Given the description of an element on the screen output the (x, y) to click on. 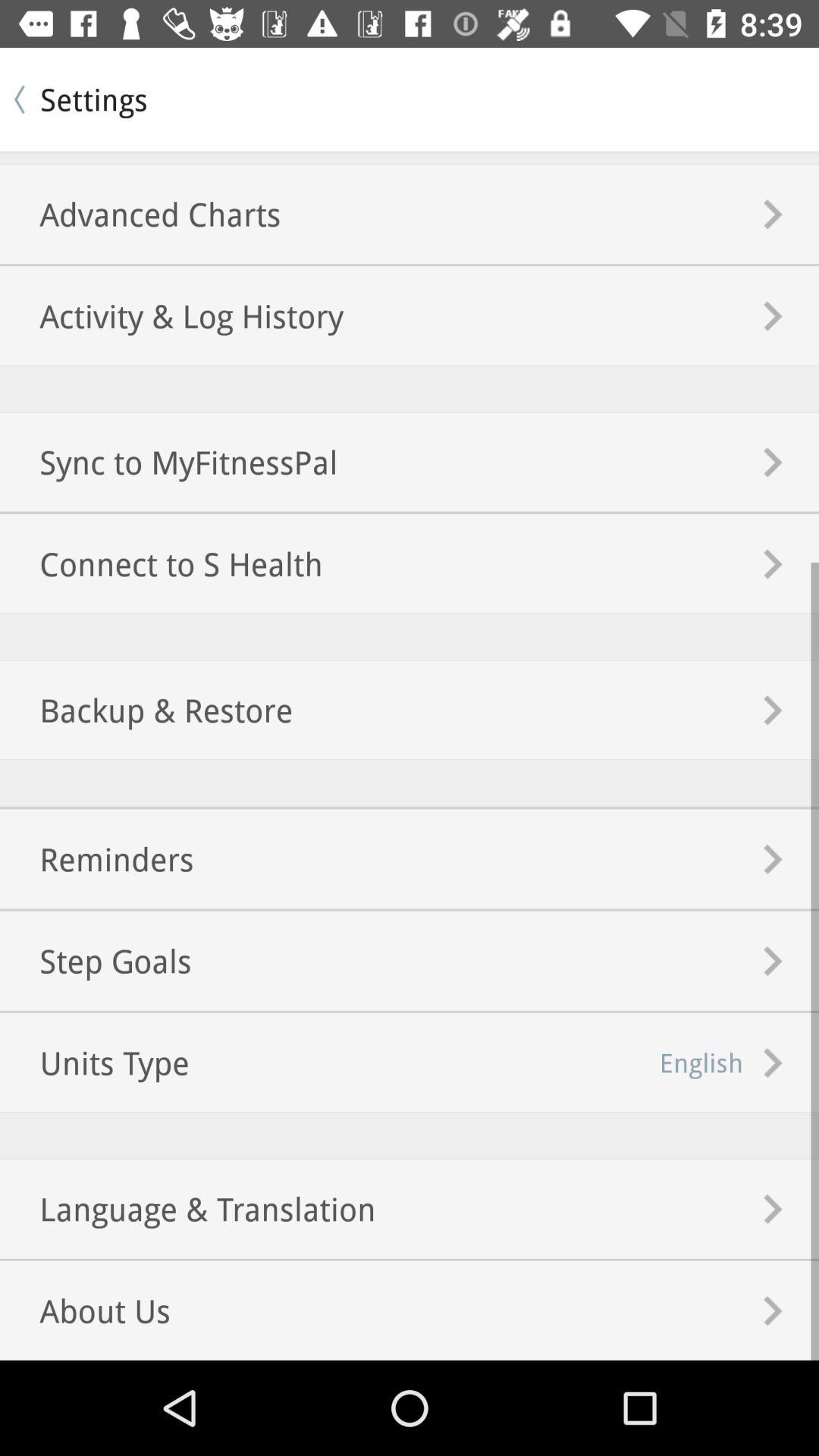
flip until reminders (96, 858)
